Given the description of an element on the screen output the (x, y) to click on. 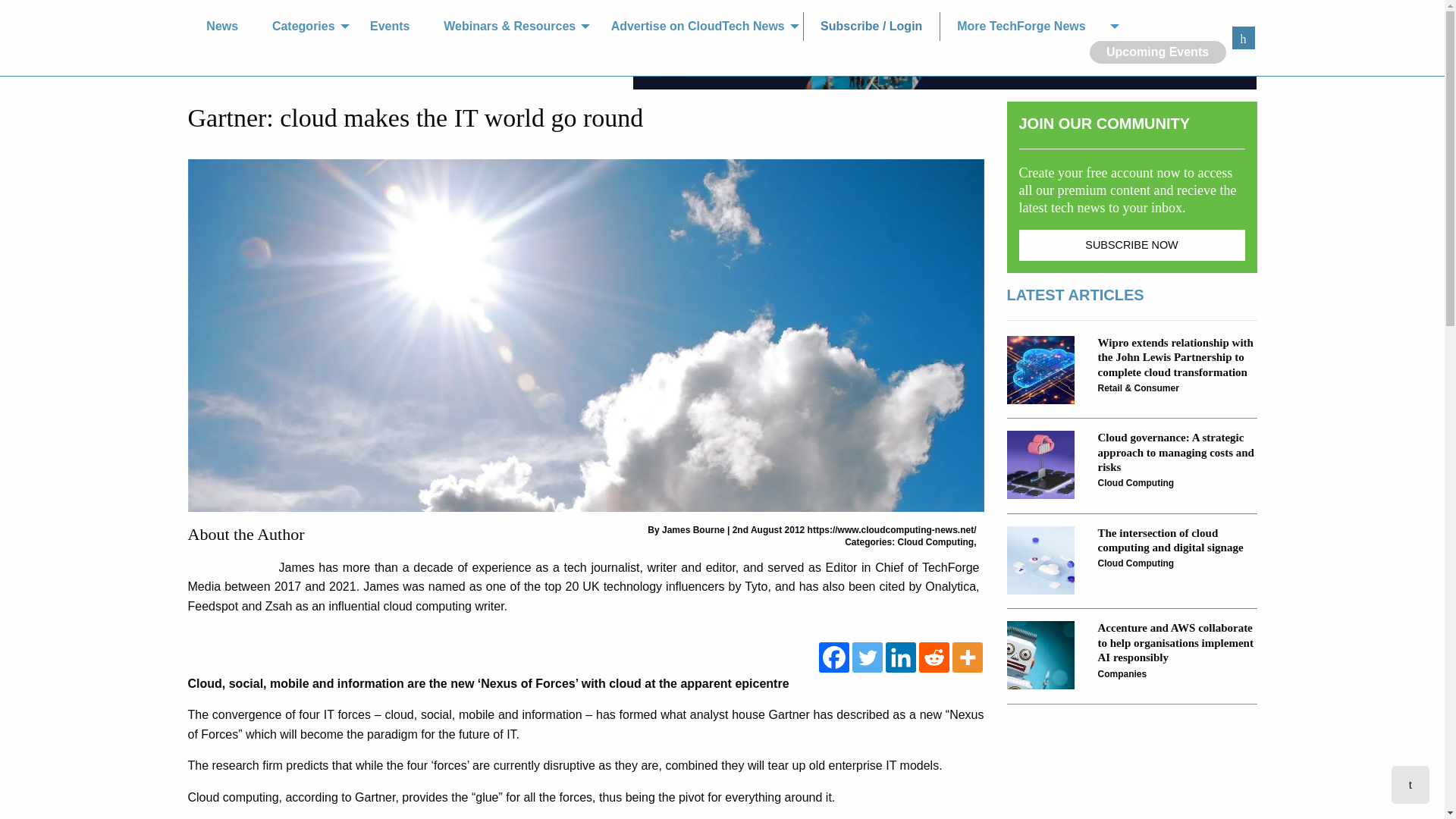
GO (1242, 37)
Twitter (866, 657)
Posts by James Bourne (693, 529)
Categories (304, 26)
The intersection of cloud computing and digital signage (1041, 560)
Search for: (1242, 37)
Facebook (833, 657)
More (967, 657)
